Given the description of an element on the screen output the (x, y) to click on. 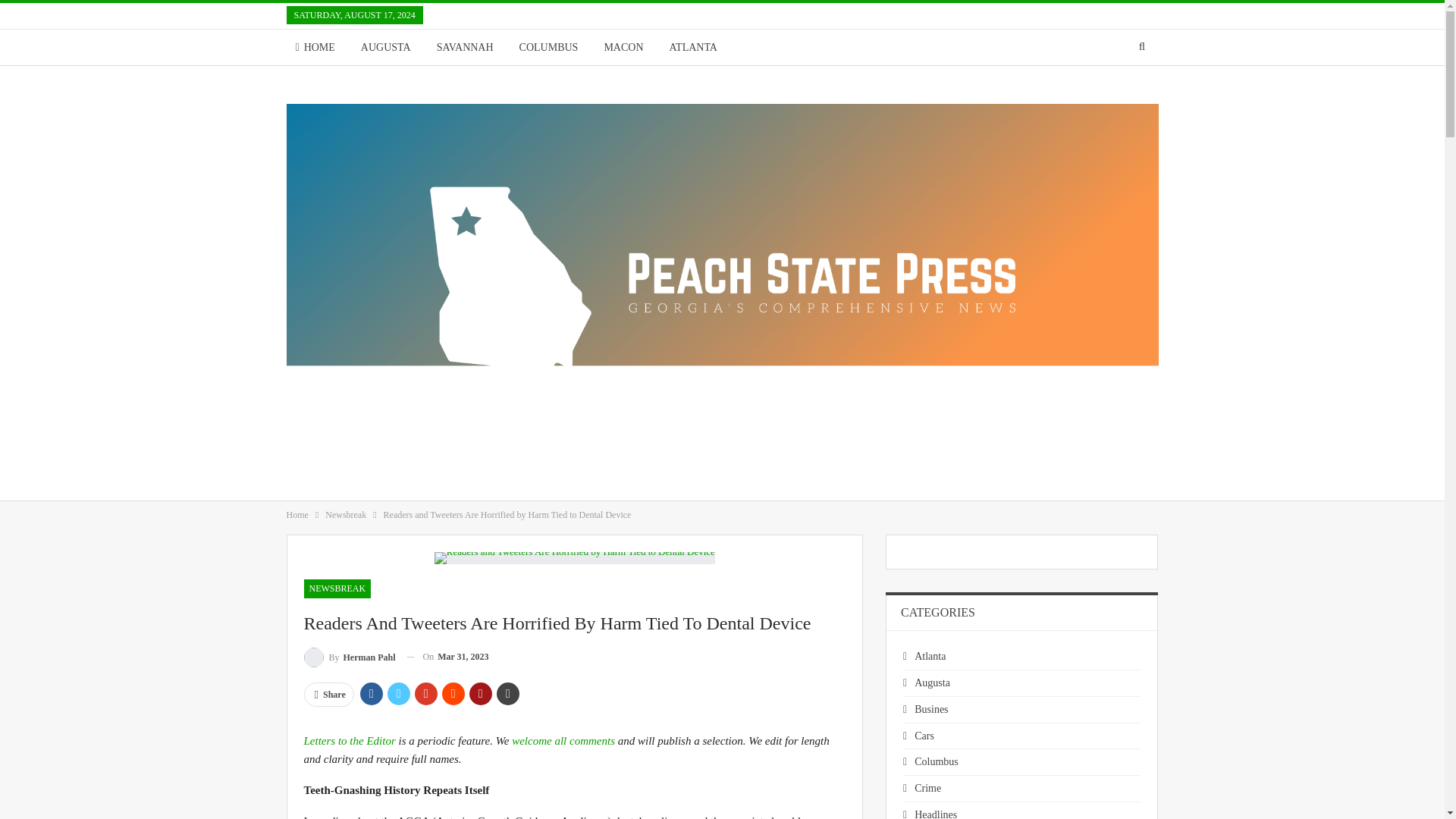
COLUMBUS (549, 47)
welcome all comments (563, 740)
MACON (623, 47)
Newsbreak (345, 514)
AUGUSTA (386, 47)
Browse Author Articles (348, 657)
Home (297, 514)
ATLANTA (693, 47)
HOME (314, 47)
Letters to the Editor (348, 740)
